Given the description of an element on the screen output the (x, y) to click on. 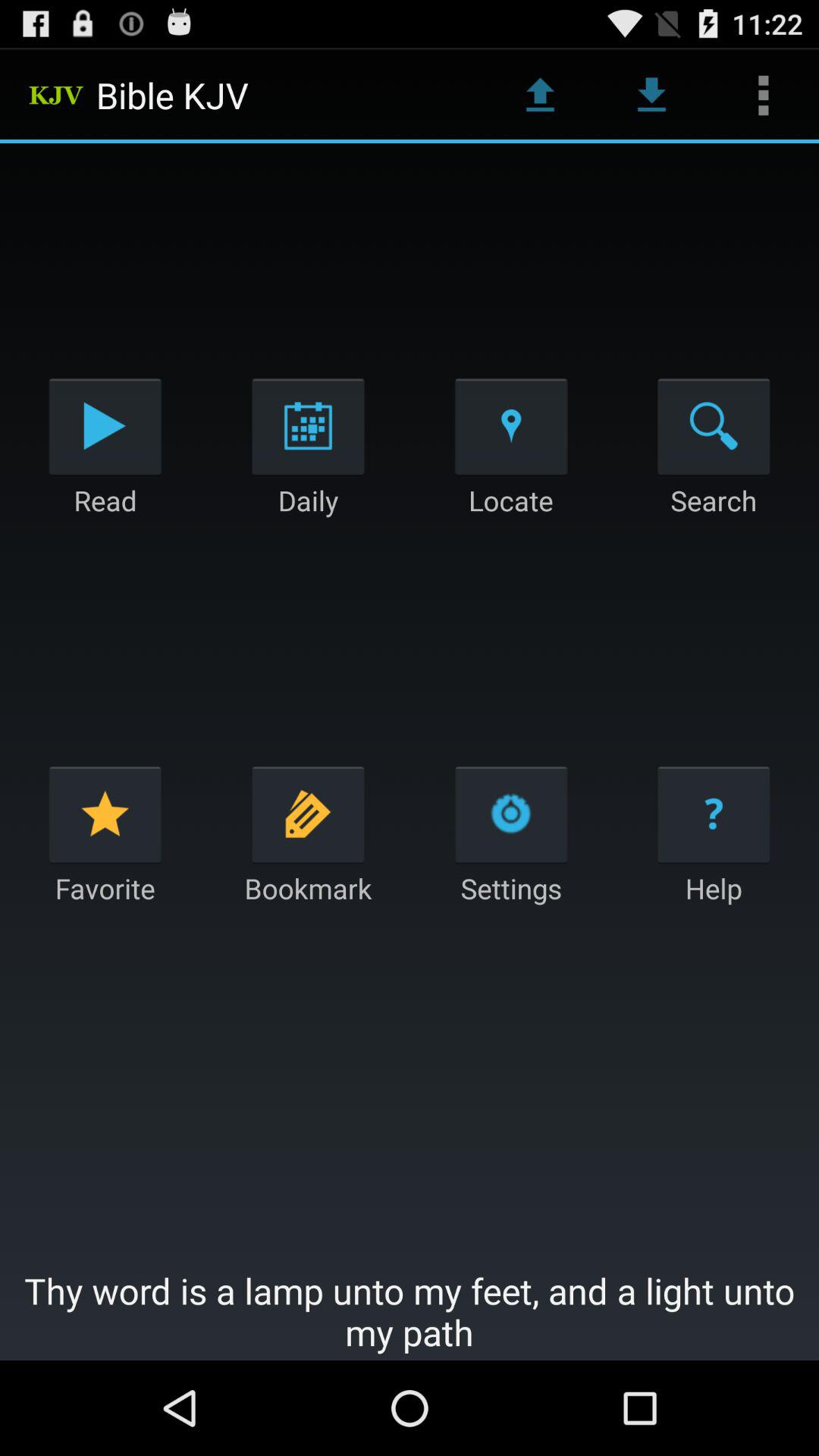
tap app below bible kjv (307, 425)
